Given the description of an element on the screen output the (x, y) to click on. 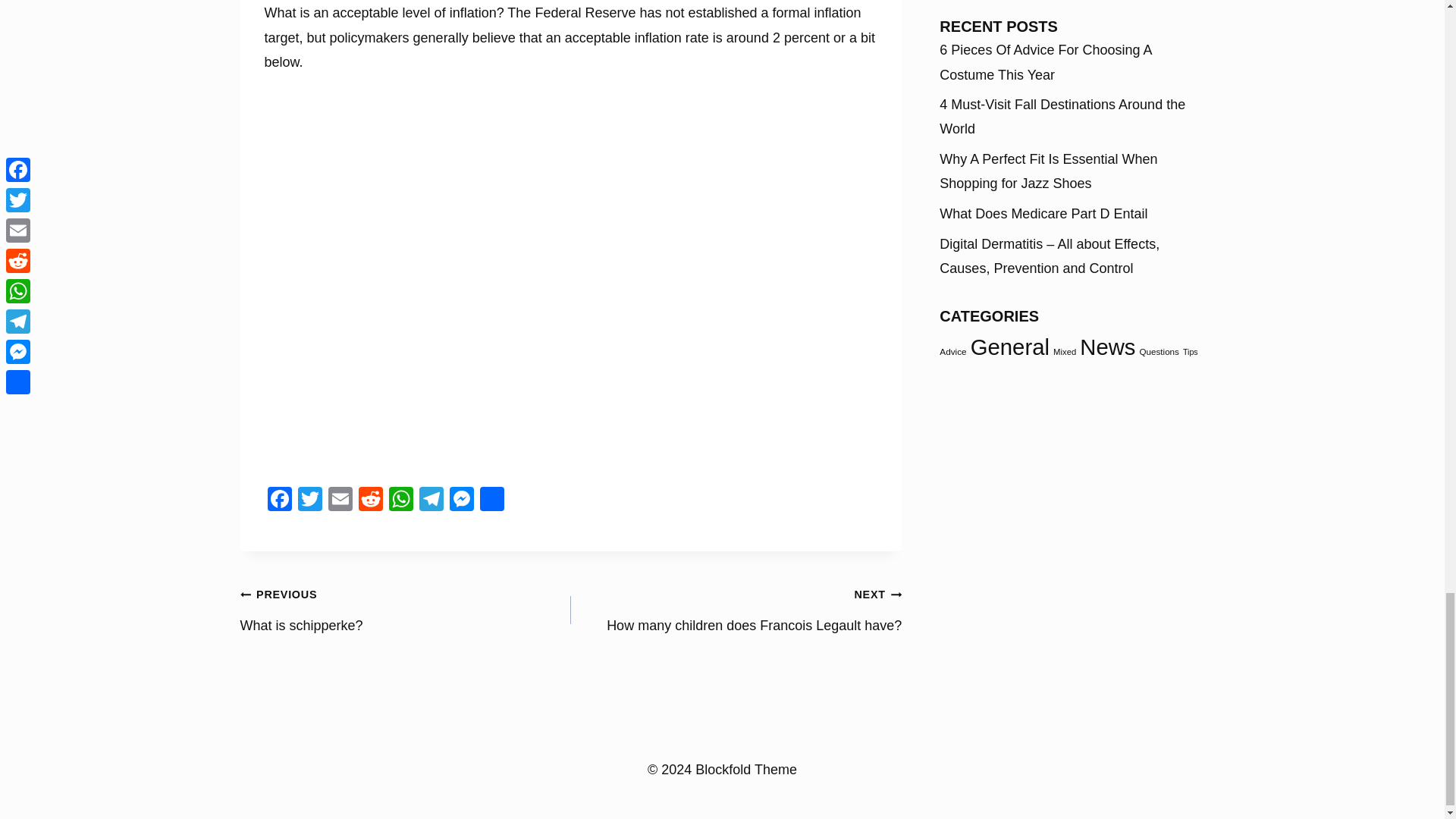
Messenger (460, 500)
Messenger (460, 500)
Email (339, 500)
Twitter (309, 500)
Facebook (278, 500)
Reddit (370, 500)
Facebook (405, 609)
Share (278, 500)
Telegram (491, 500)
WhatsApp (735, 609)
Telegram (429, 500)
WhatsApp (399, 500)
